Given the description of an element on the screen output the (x, y) to click on. 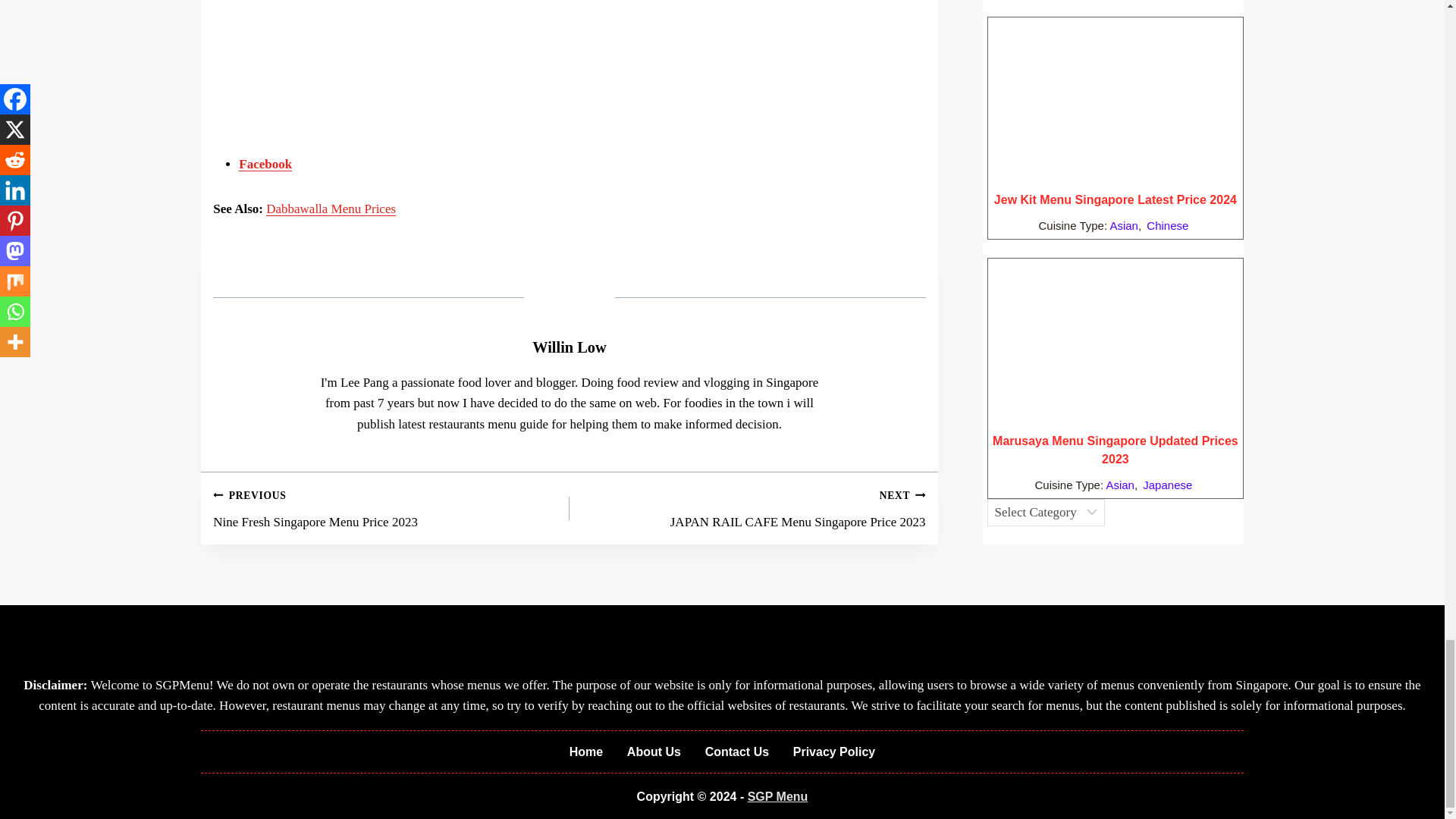
Posts by Willin Low (569, 347)
